Given the description of an element on the screen output the (x, y) to click on. 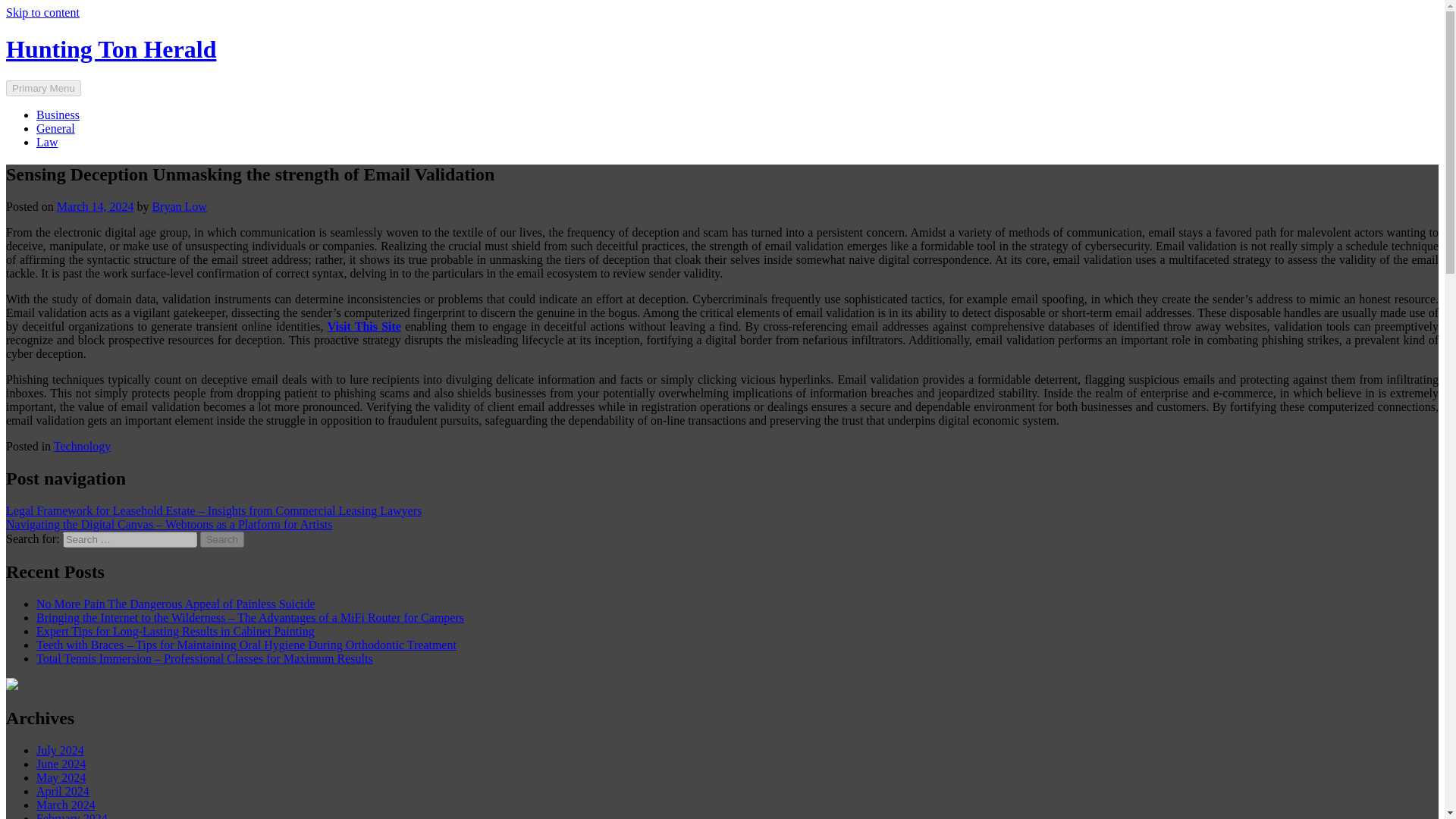
May 2024 (60, 777)
Law (47, 141)
February 2024 (71, 815)
April 2024 (62, 790)
Search (222, 538)
June 2024 (60, 763)
Visit This Site (363, 326)
March 2024 (66, 804)
March 14, 2024 (94, 205)
Skip to content (42, 11)
Bryan Low (178, 205)
Expert Tips for Long-Lasting Results in Cabinet Painting (175, 631)
No More Pain The Dangerous Appeal of Painless Suicide (175, 603)
Technology (81, 445)
Search (222, 538)
